Given the description of an element on the screen output the (x, y) to click on. 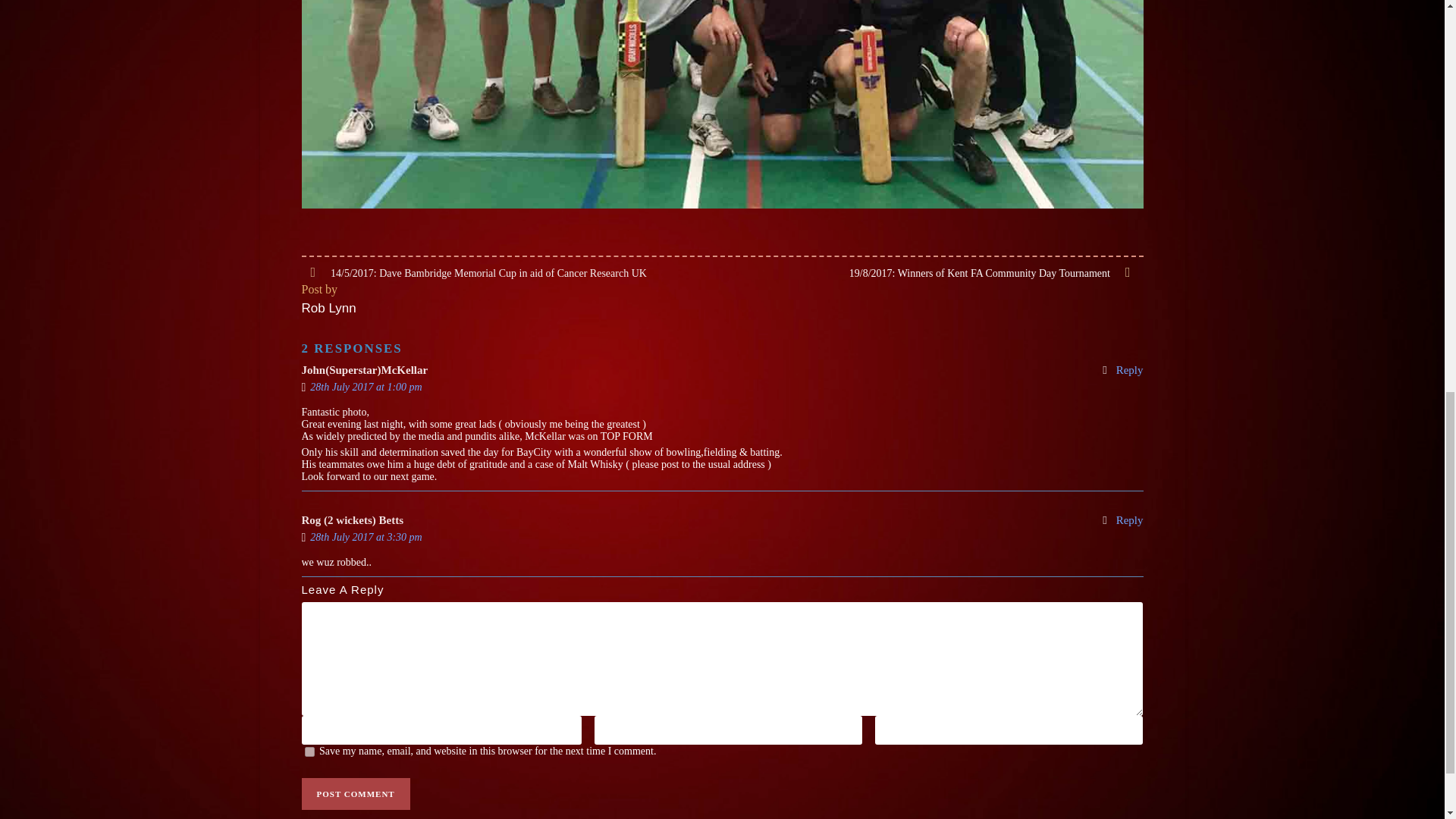
Posts by Rob Lynn (328, 308)
yes (309, 751)
Post Comment (355, 793)
